Given the description of an element on the screen output the (x, y) to click on. 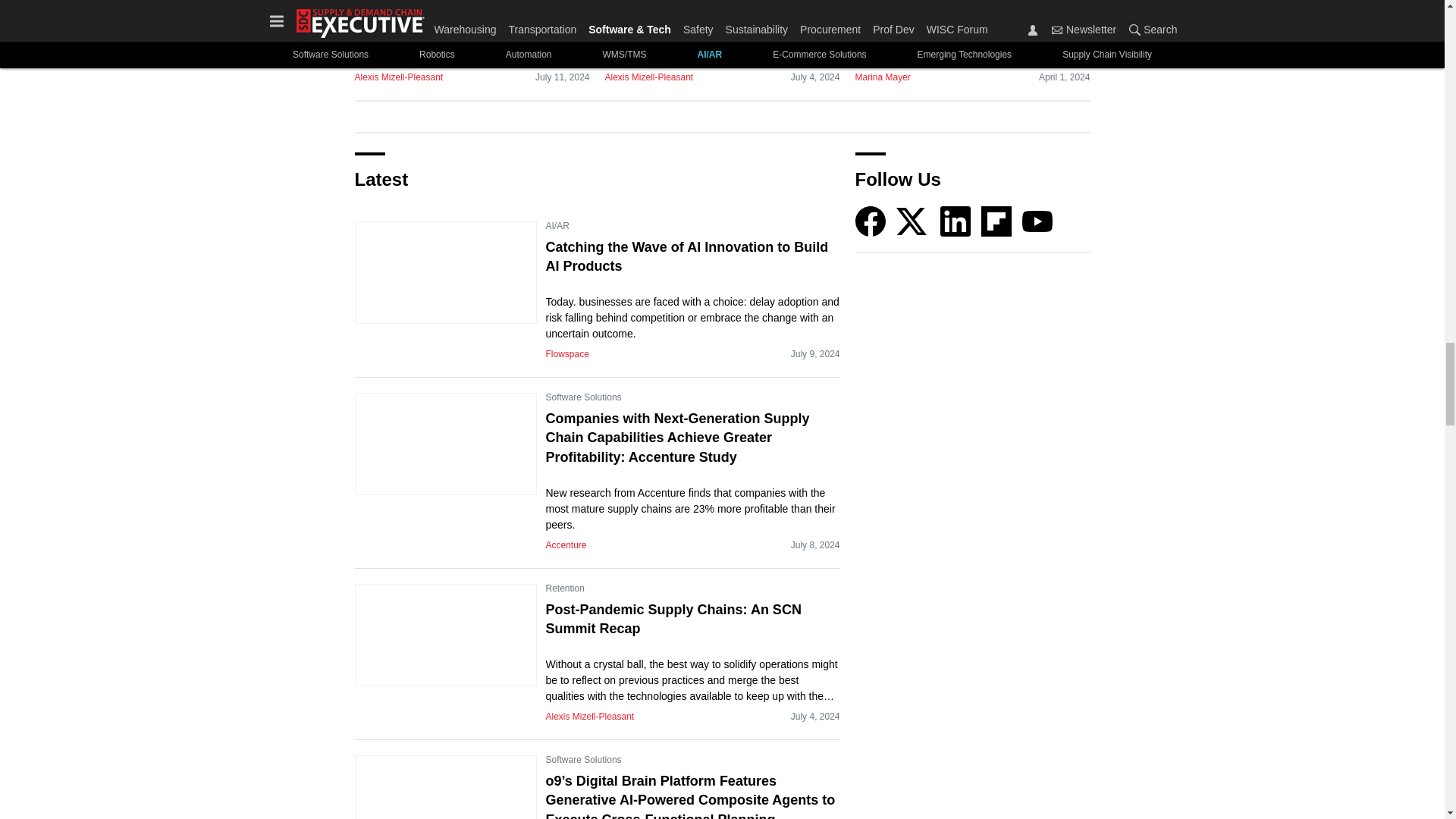
LinkedIn icon (955, 221)
Facebook icon (870, 221)
Twitter X icon (911, 221)
Flipboard icon (996, 221)
YouTube icon (1037, 221)
